Given the description of an element on the screen output the (x, y) to click on. 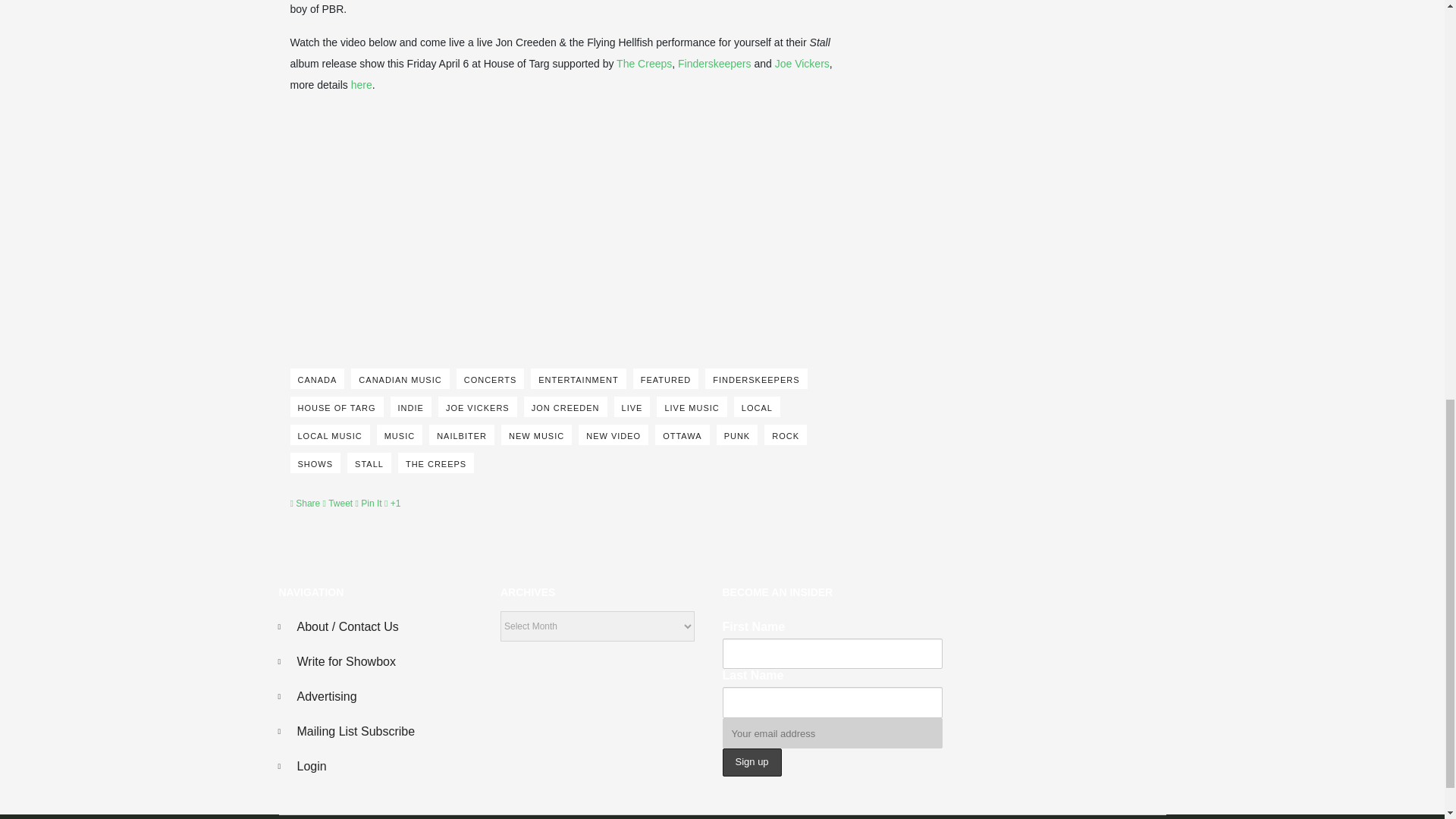
Sign up (751, 762)
